Given the description of an element on the screen output the (x, y) to click on. 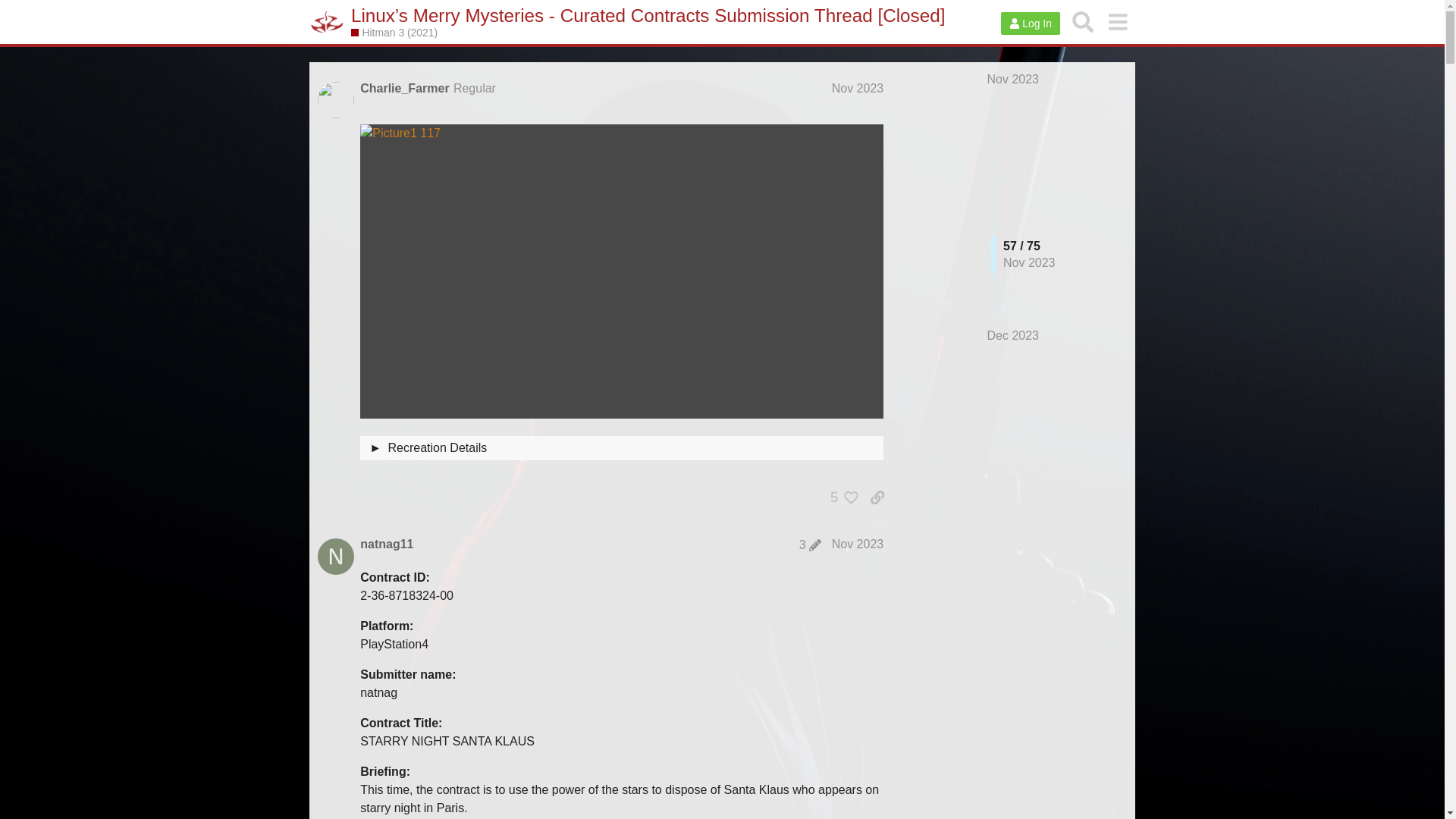
Jump to the first post (1013, 78)
Nov 2023 (857, 88)
Nov 2023 (857, 543)
Nov 2023 (1013, 78)
5 people liked this post (840, 497)
menu (1117, 21)
Post date (857, 88)
5 (840, 497)
Log In (1030, 23)
3 (809, 545)
